Given the description of an element on the screen output the (x, y) to click on. 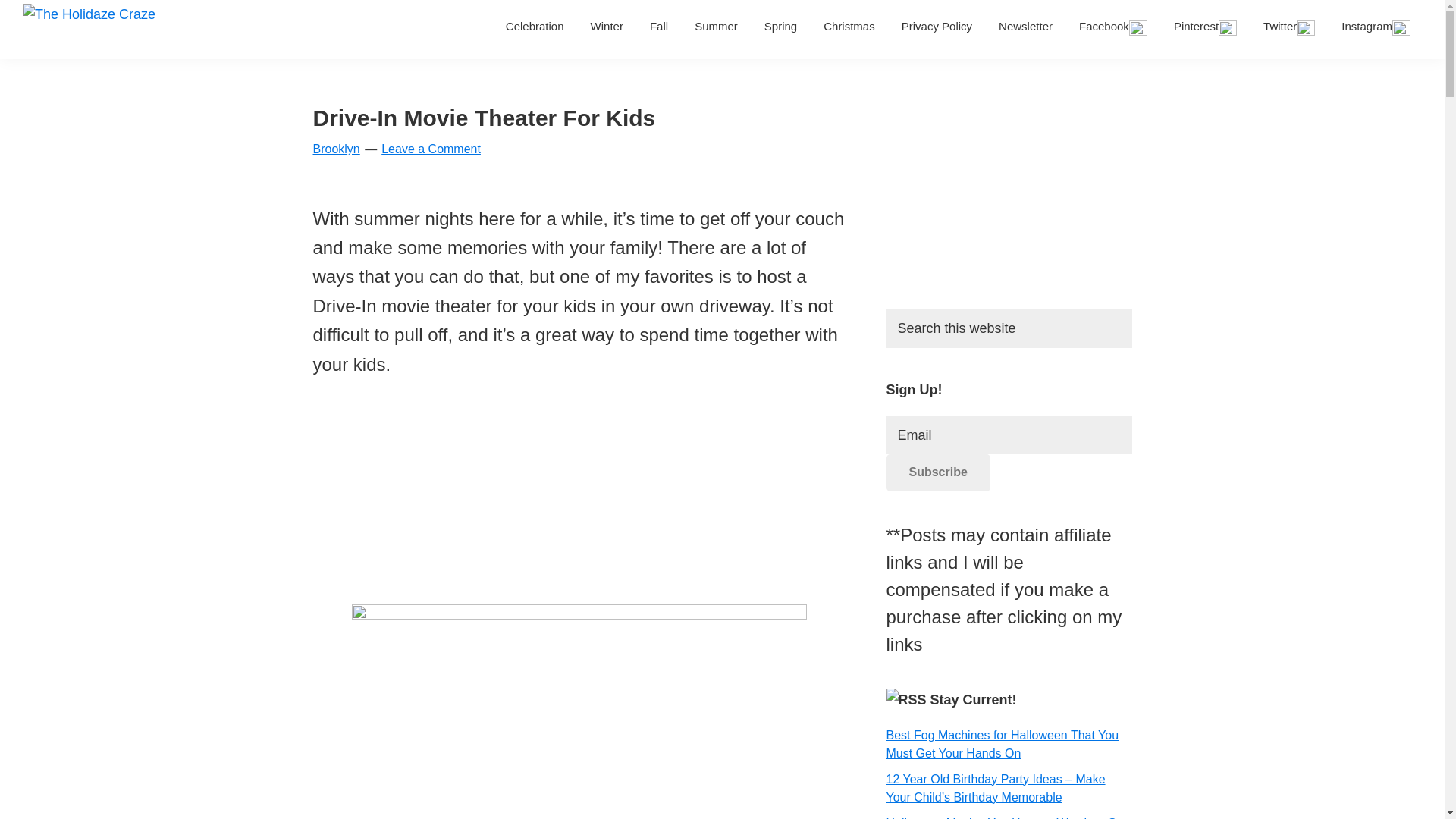
Celebration (535, 25)
Summer (715, 25)
Spring (780, 25)
Leave a Comment (430, 148)
Brooklyn (336, 148)
Privacy Policy (936, 25)
Subscribe (937, 472)
Christmas (849, 25)
